Given the description of an element on the screen output the (x, y) to click on. 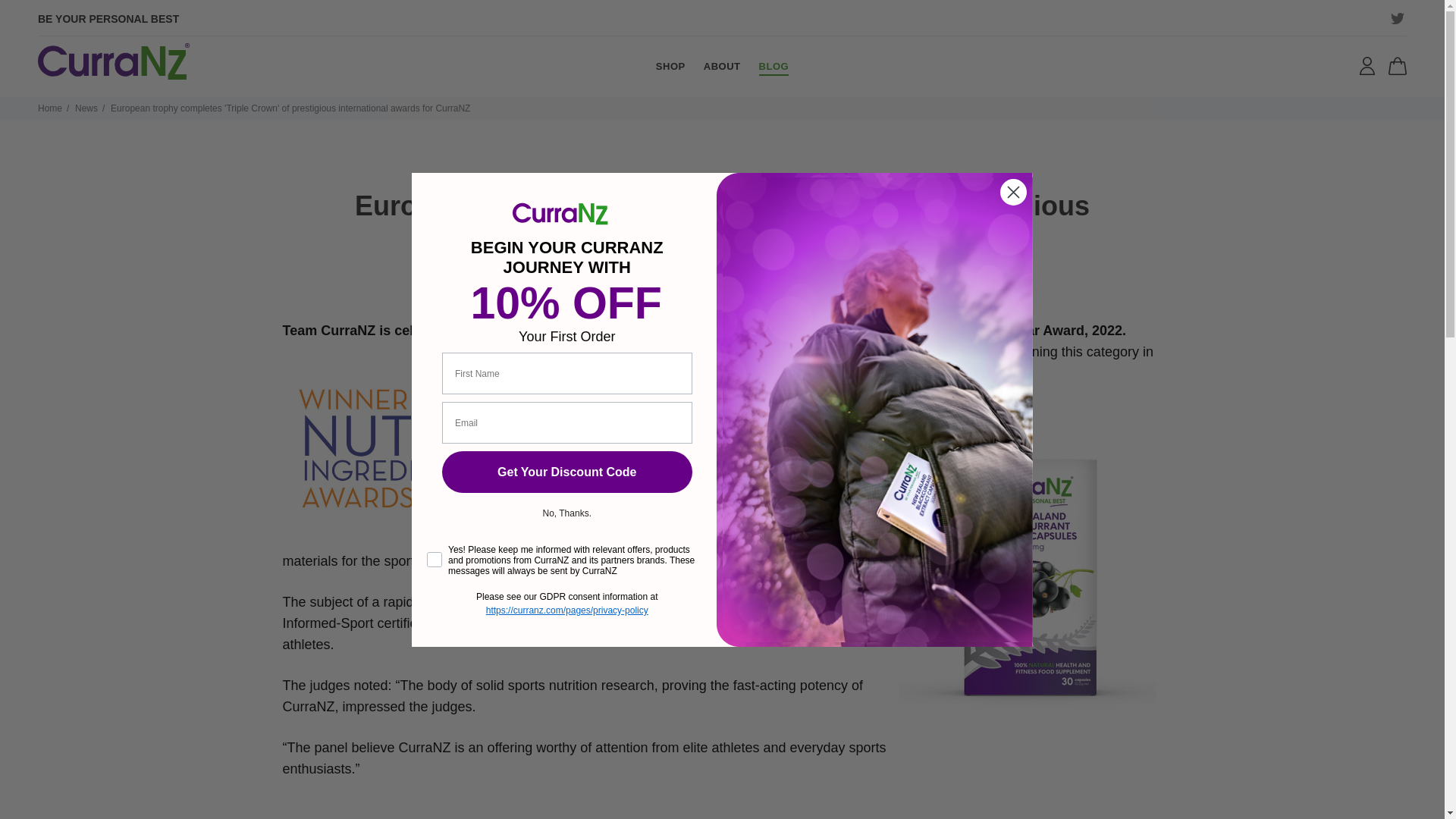
ABOUT (721, 66)
SHOP (675, 66)
Untitled-6 (113, 61)
on (431, 538)
Untitled-6 (113, 61)
